Given the description of an element on the screen output the (x, y) to click on. 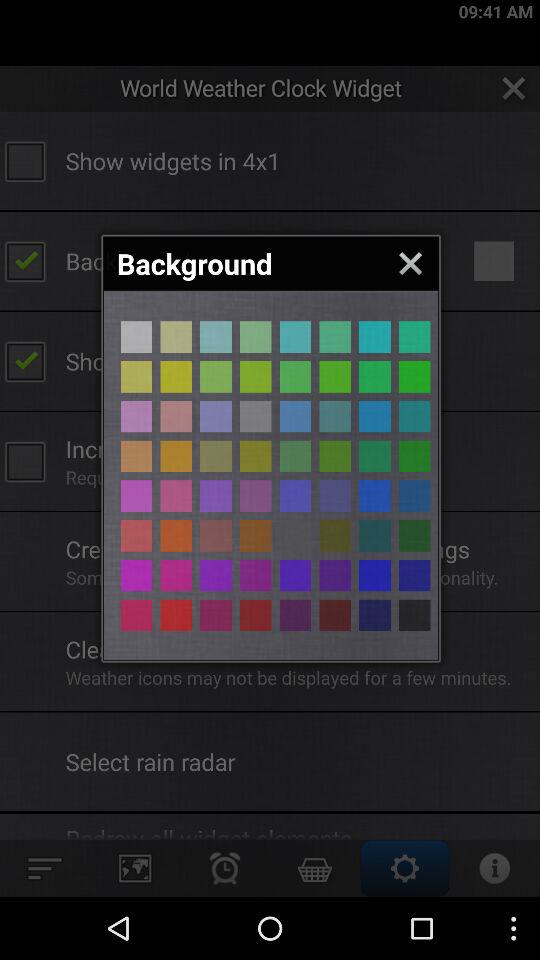
color selection (136, 535)
